Given the description of an element on the screen output the (x, y) to click on. 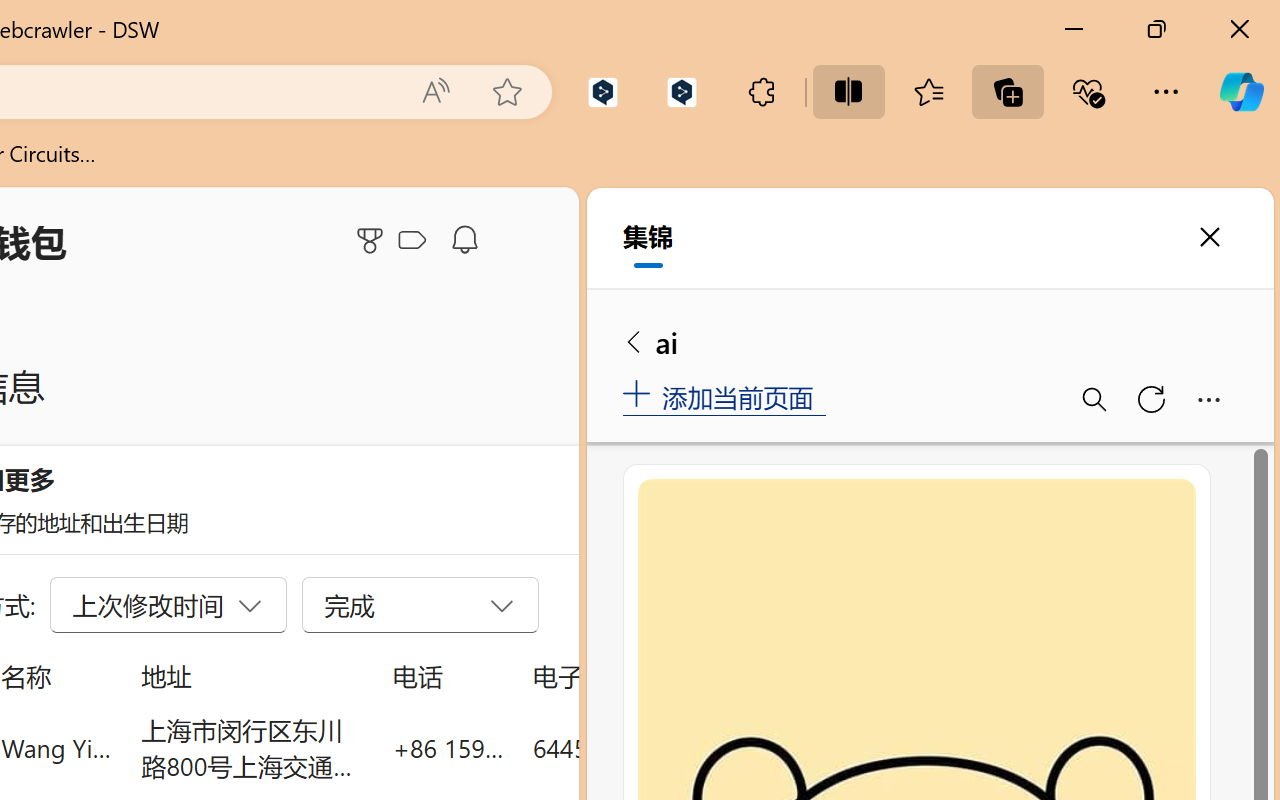
Copilot (Ctrl+Shift+.) (1241, 91)
644553698@qq.com (644, 747)
